Given the description of an element on the screen output the (x, y) to click on. 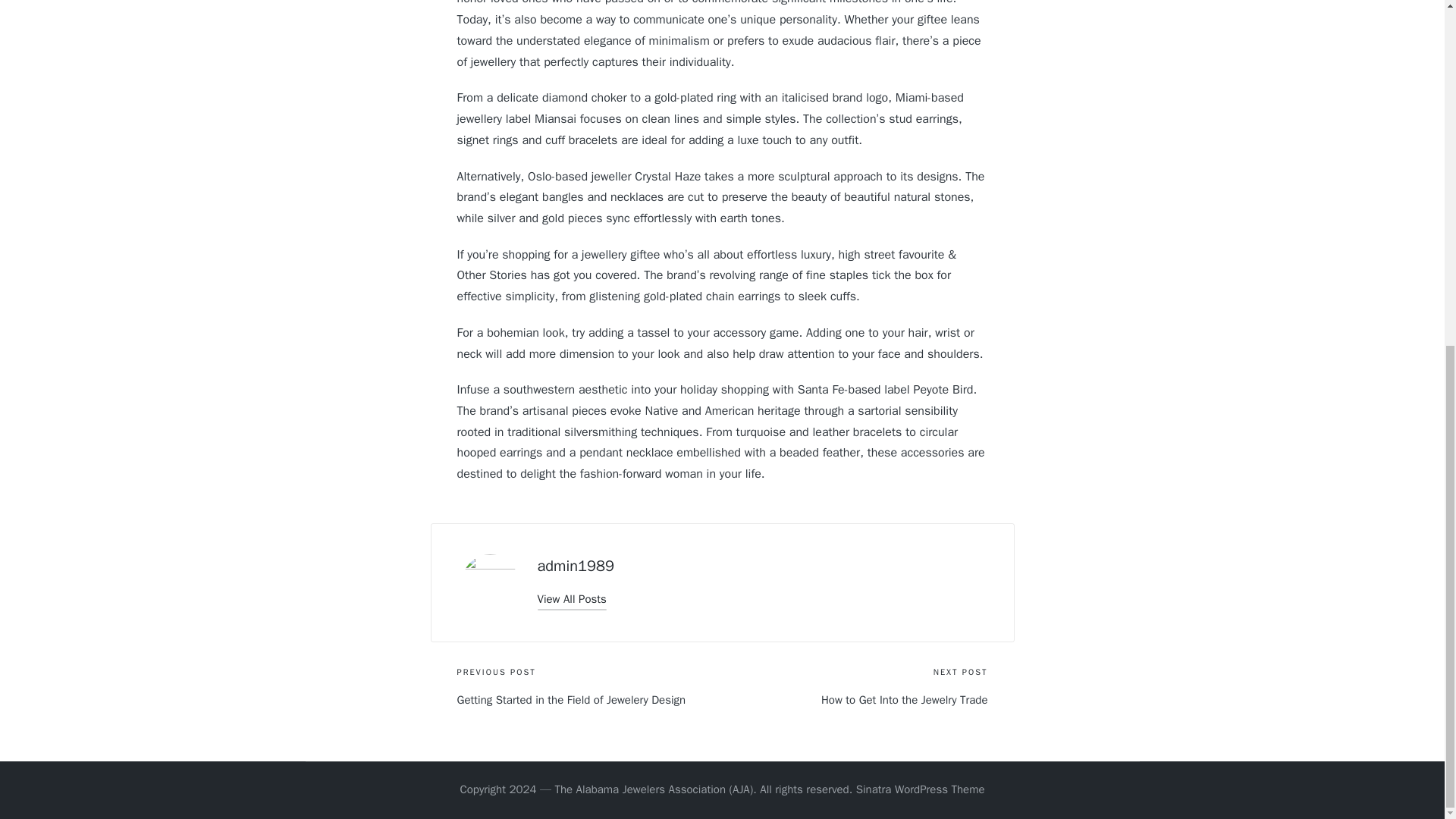
Getting Started in the Field of Jewelery Design (589, 700)
Sinatra WordPress Theme (920, 790)
How to Get Into the Jewelry Trade (854, 700)
admin1989 (574, 565)
View All Posts (571, 598)
